Given the description of an element on the screen output the (x, y) to click on. 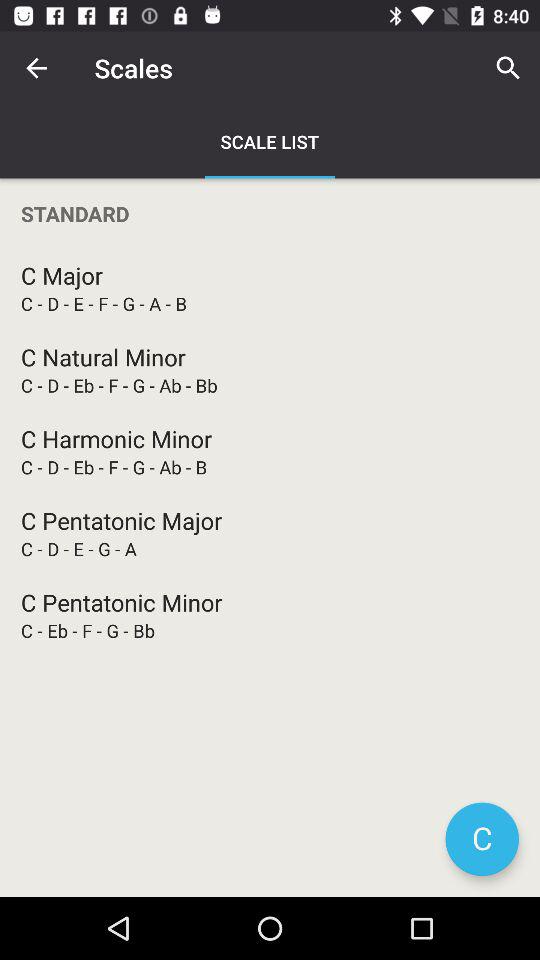
launch item above standard item (508, 67)
